Given the description of an element on the screen output the (x, y) to click on. 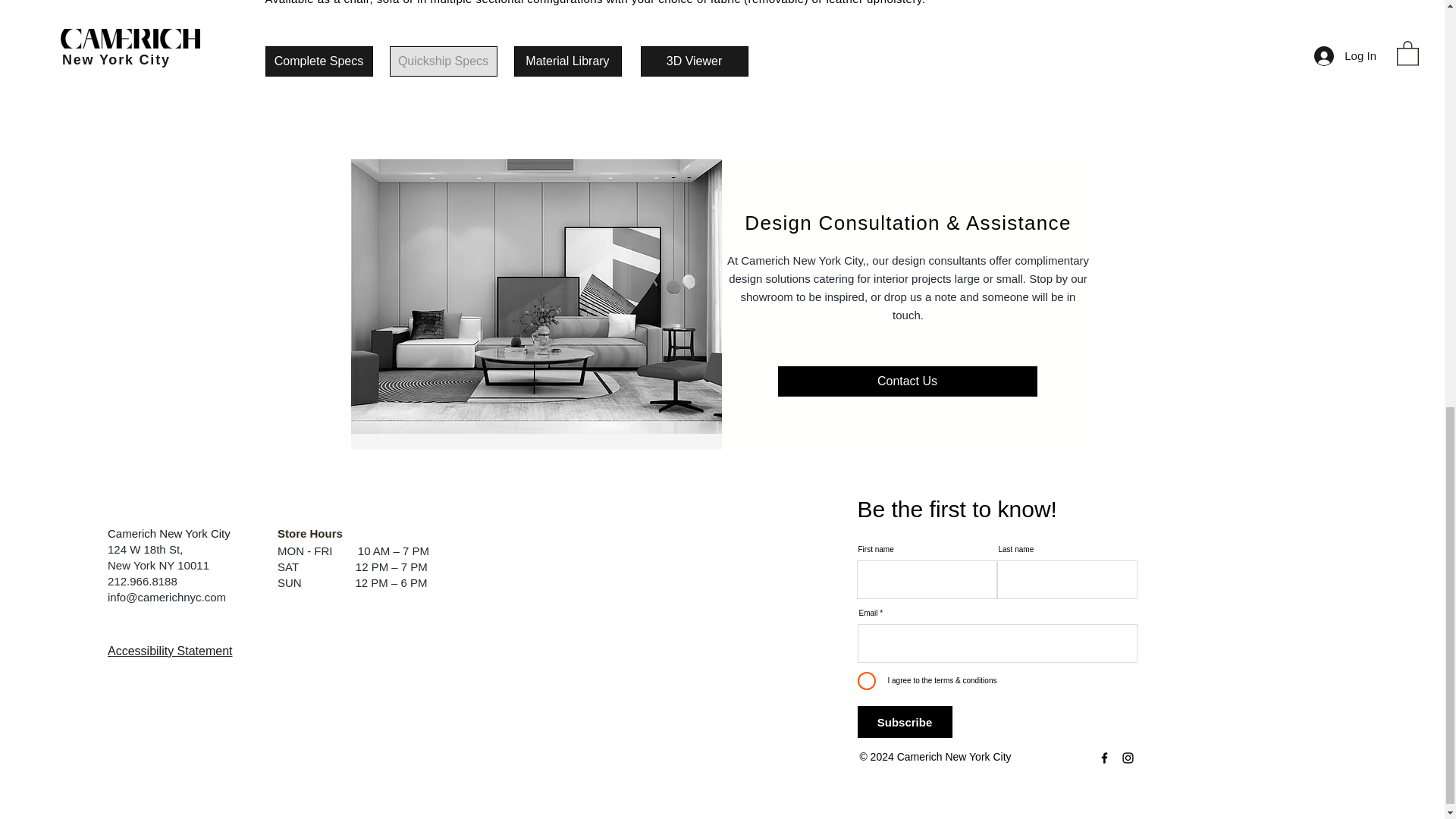
Subscribe (904, 721)
Material Library (567, 60)
Contact Us (906, 381)
Complete Specs (318, 60)
Accessibility Statement (169, 650)
3D Viewer (694, 60)
Quickship Specs (443, 60)
